Given the description of an element on the screen output the (x, y) to click on. 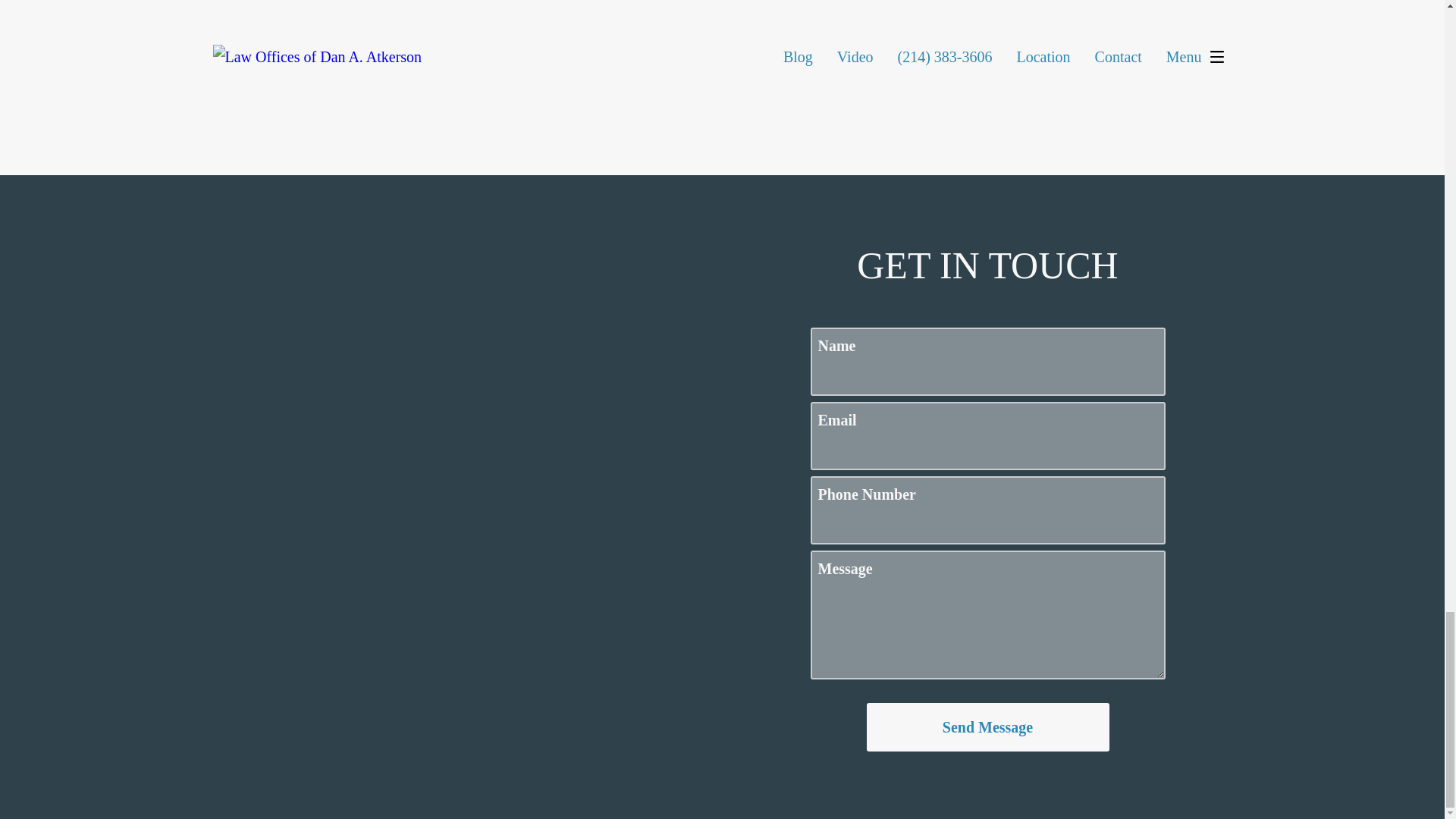
Einstein Law (1024, 724)
ABOUT OUR OFFICE (360, 280)
Send Message (987, 19)
Facebook (962, 512)
Locations (1003, 117)
Allen Office (360, 135)
YouTube (840, 512)
Privacy Policy (728, 761)
DIRECTIONS (360, 339)
Yelp (901, 512)
Sitemap (649, 761)
Google (780, 512)
